Given the description of an element on the screen output the (x, y) to click on. 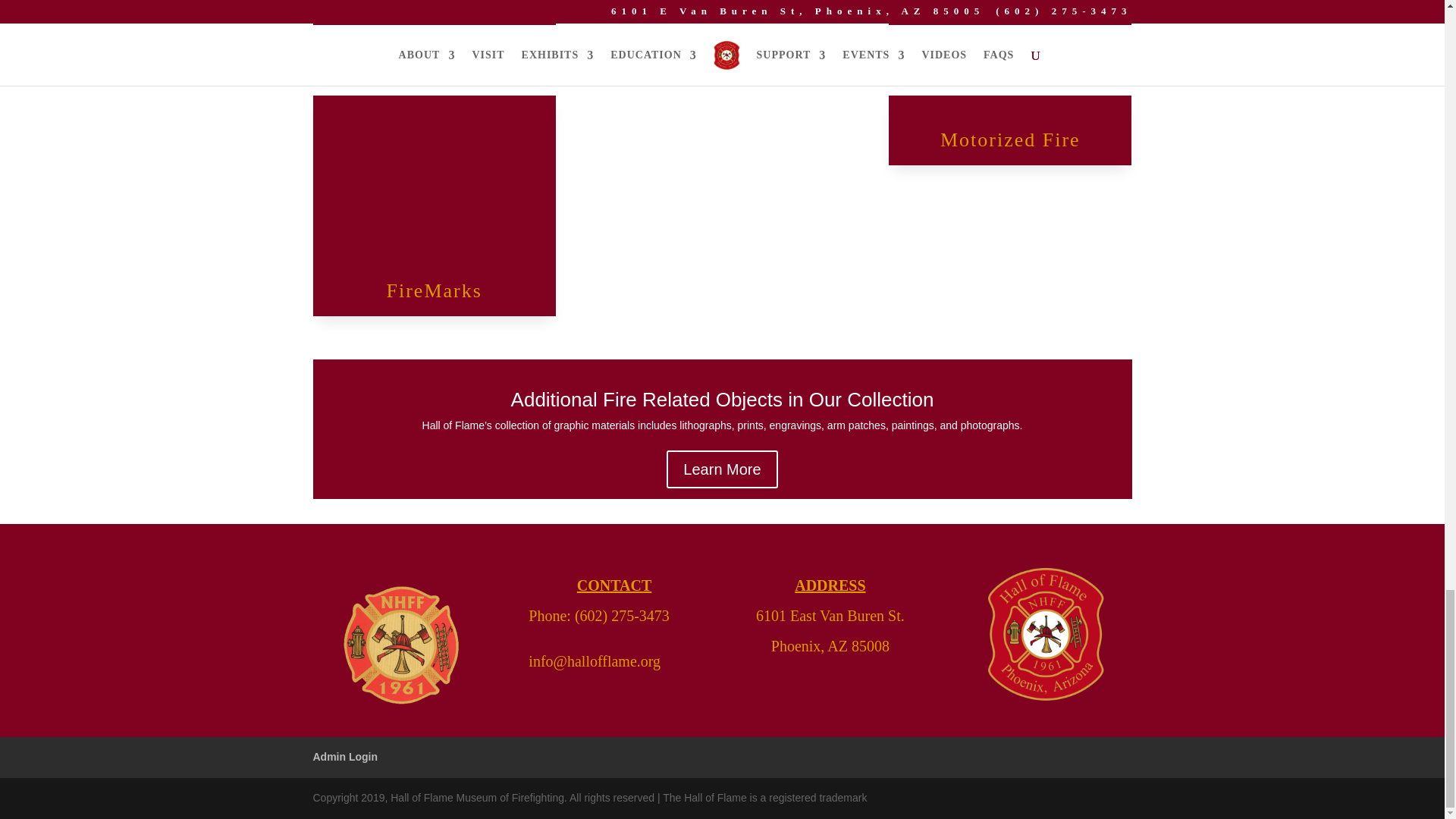
HOF-logo-transparent (398, 641)
